Given the description of an element on the screen output the (x, y) to click on. 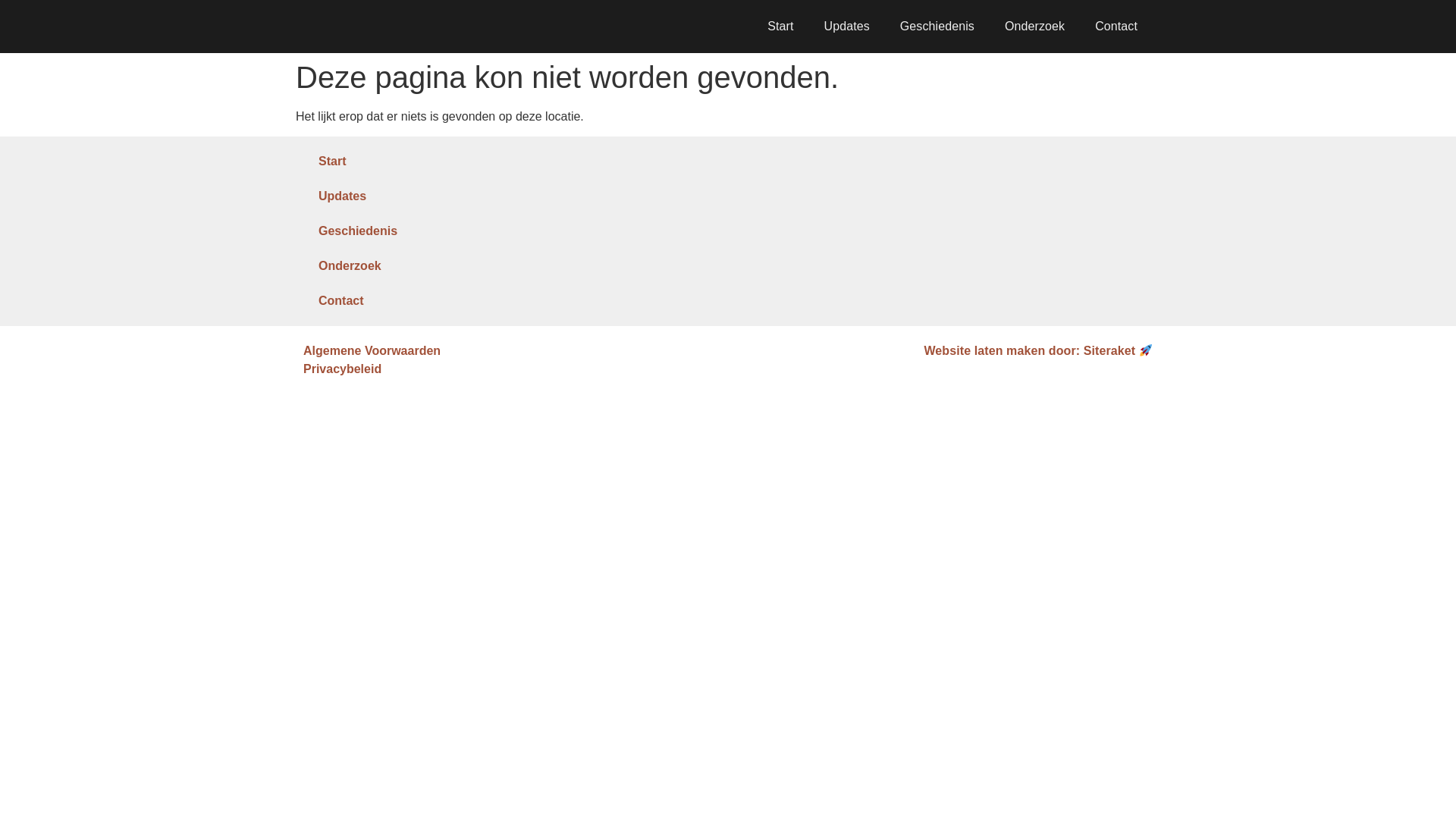
Website laten maken door: Siteraket (1038, 350)
Start (780, 26)
Start (439, 161)
Contact (439, 300)
Onderzoek (439, 265)
Onderzoek (1035, 26)
Geschiedenis (439, 230)
Geschiedenis (937, 26)
Algemene Voorwaarden (511, 351)
Privacybeleid (511, 369)
Updates (847, 26)
Updates (439, 196)
Contact (1116, 26)
